Given the description of an element on the screen output the (x, y) to click on. 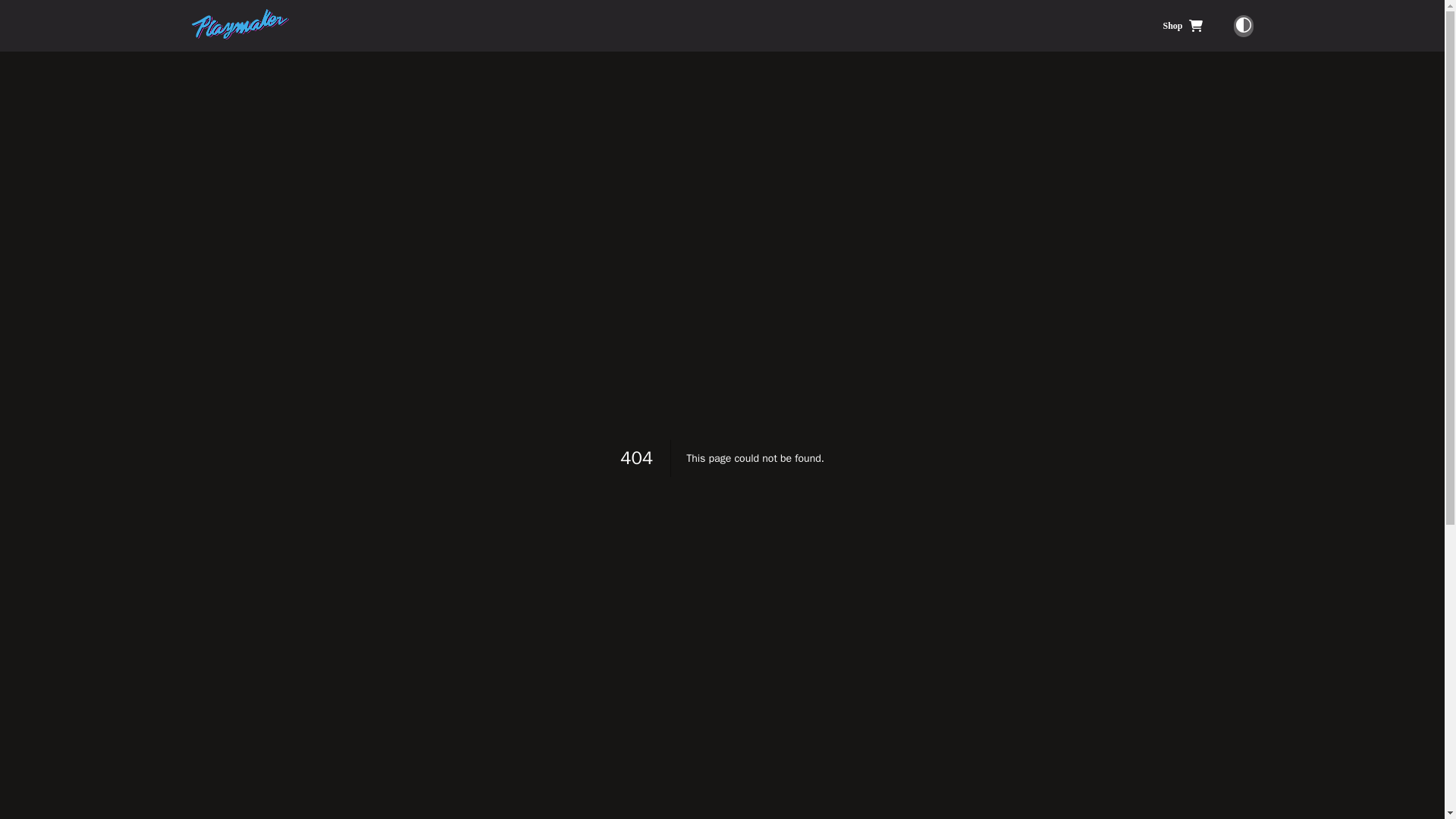
Shop (1181, 25)
